Given the description of an element on the screen output the (x, y) to click on. 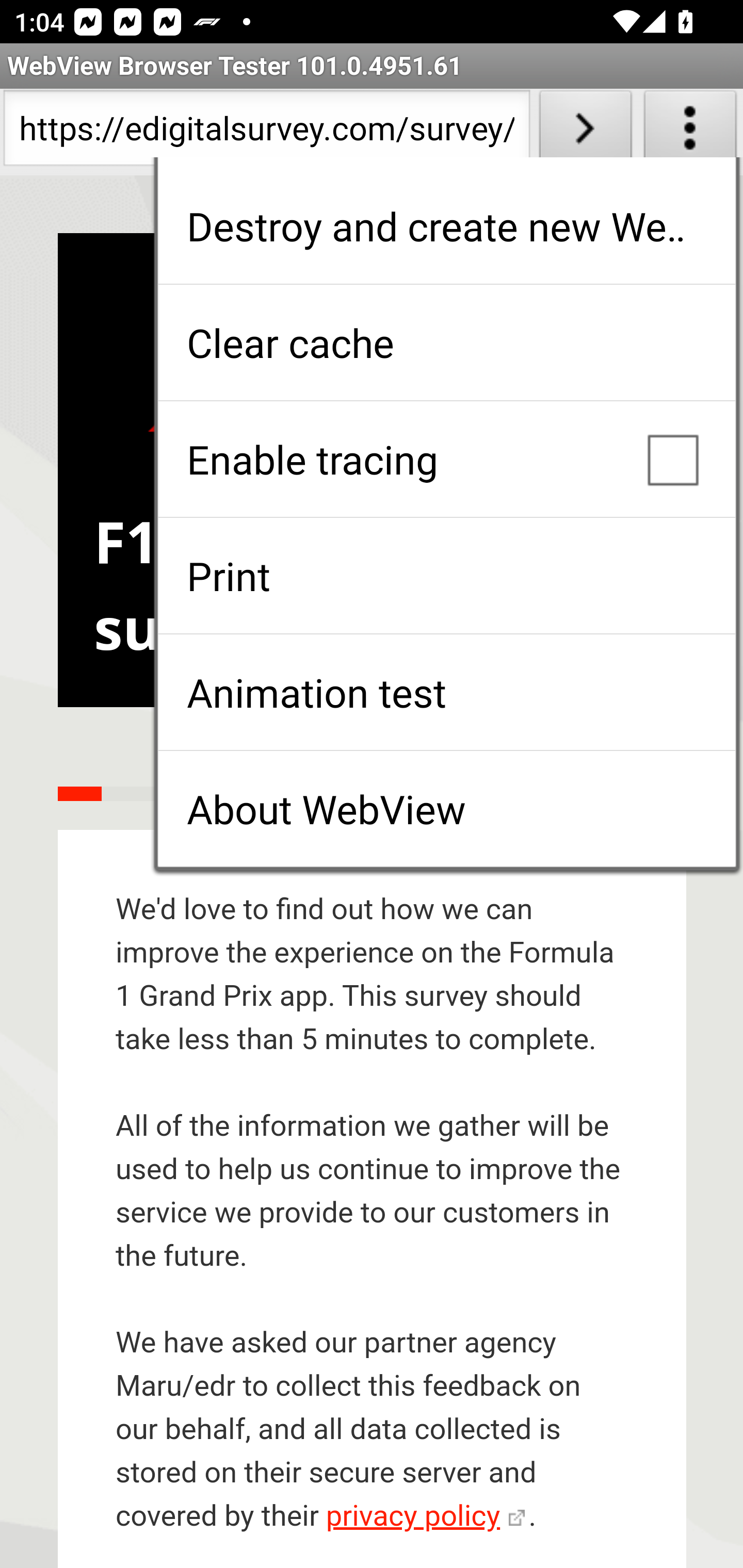
Destroy and create new WebView (446, 225)
Clear cache (446, 342)
Enable tracing (446, 459)
Print (446, 575)
Animation test (446, 692)
About WebView (446, 809)
